Given the description of an element on the screen output the (x, y) to click on. 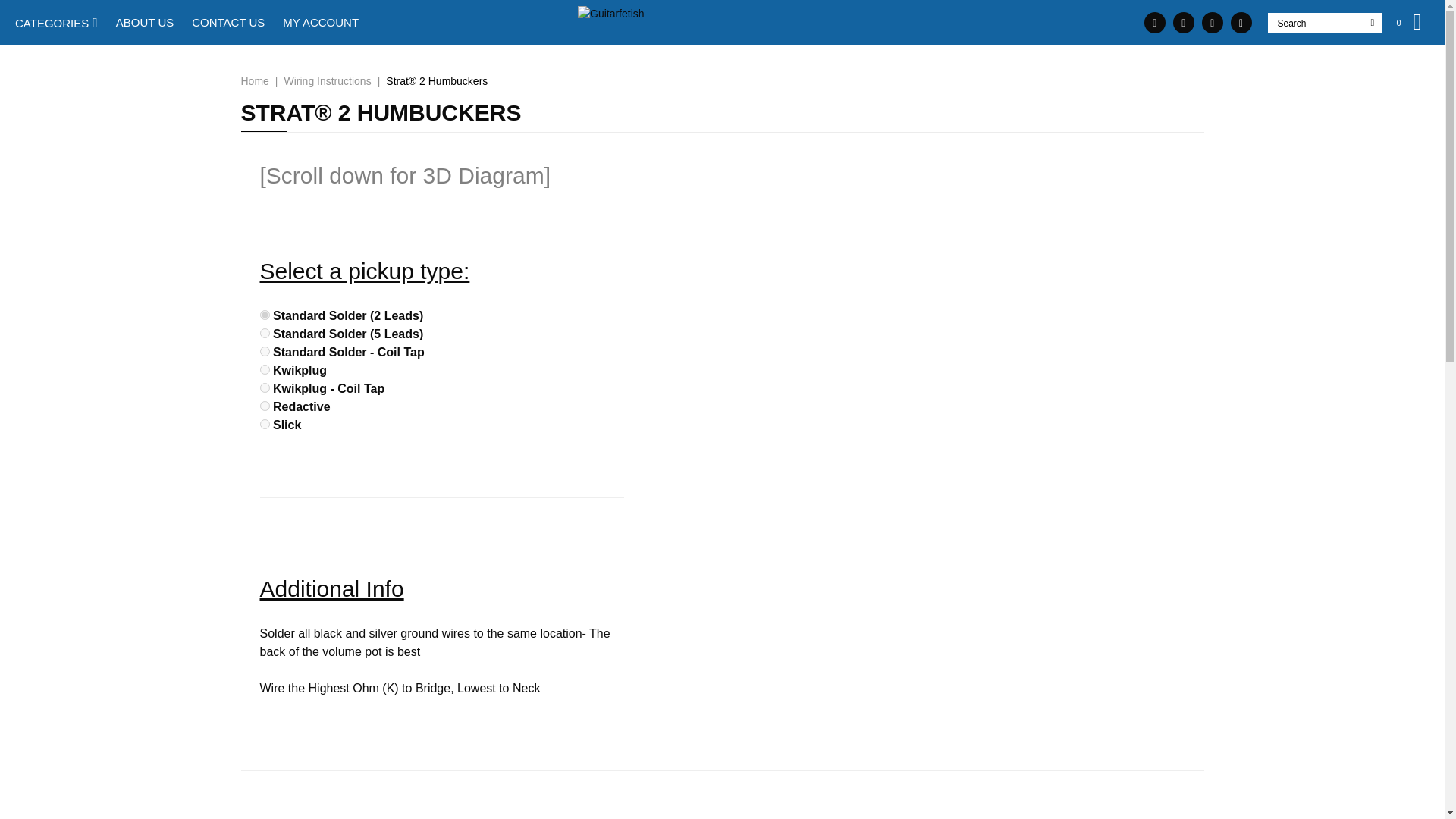
on (264, 369)
CATEGORIES (56, 22)
Like Us on Facebook (1183, 22)
on (264, 333)
Subscribe to our Channel (1155, 22)
on (264, 406)
on (264, 315)
on (264, 388)
on (264, 351)
Follow Us on Instagram (1212, 22)
Follow Us on Twitter (1241, 22)
on (264, 424)
